Given the description of an element on the screen output the (x, y) to click on. 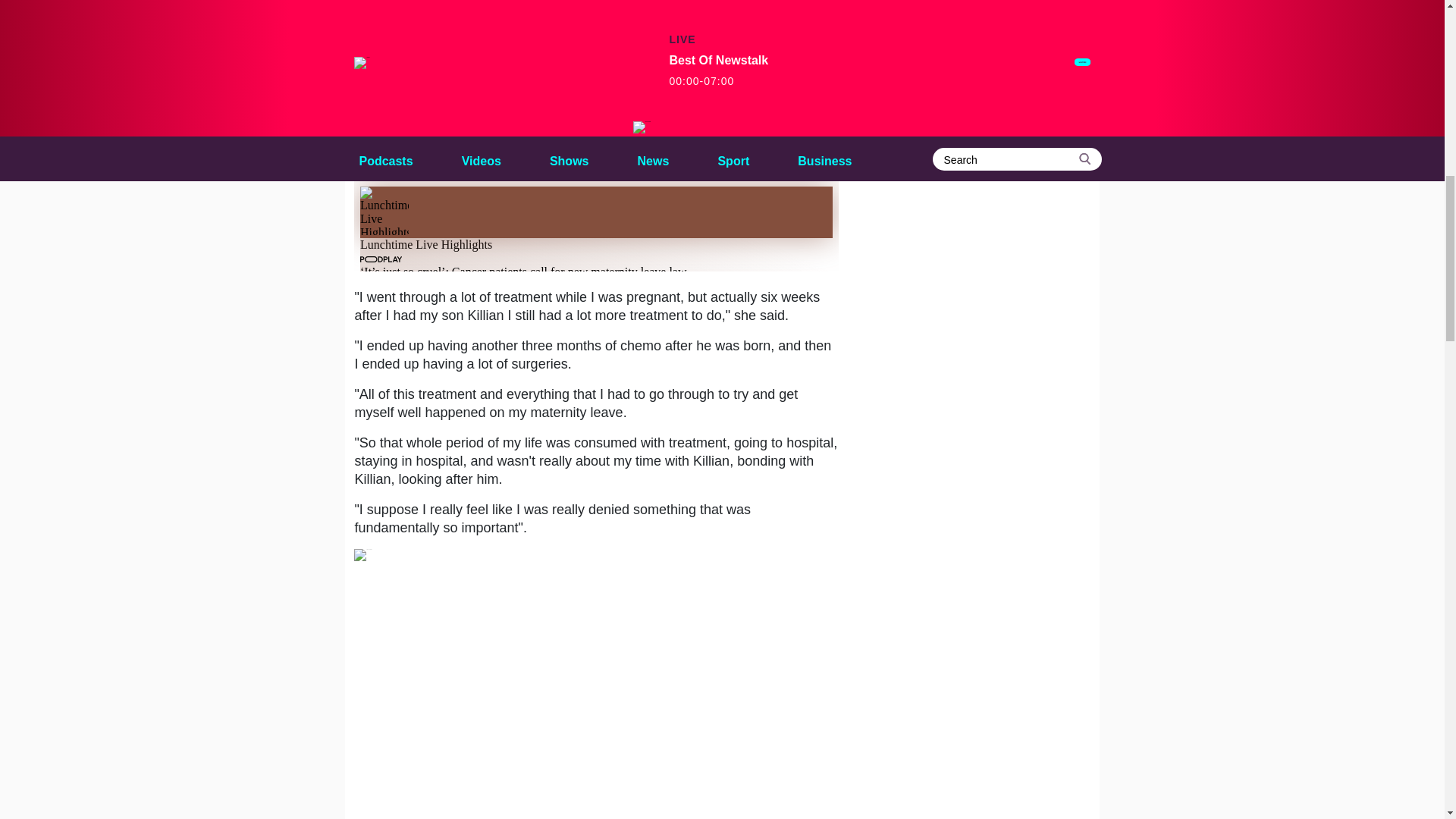
Lunchtime Live (458, 159)
